Given the description of an element on the screen output the (x, y) to click on. 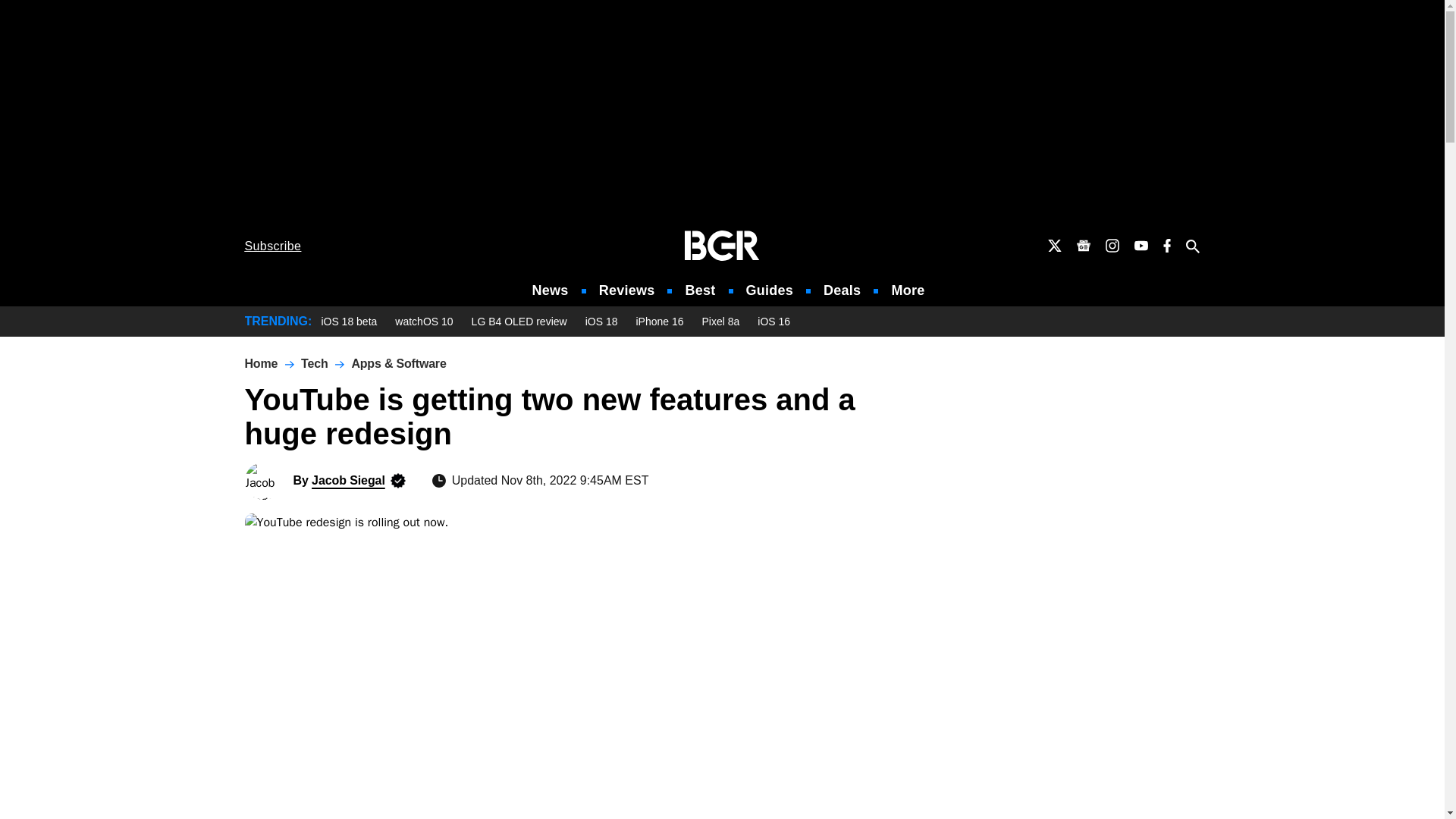
News (550, 290)
Guides (769, 290)
Deals (842, 290)
Best (699, 290)
Reviews (626, 290)
More (907, 290)
Posts by Jacob Siegal (348, 480)
Subscribe (272, 245)
